Given the description of an element on the screen output the (x, y) to click on. 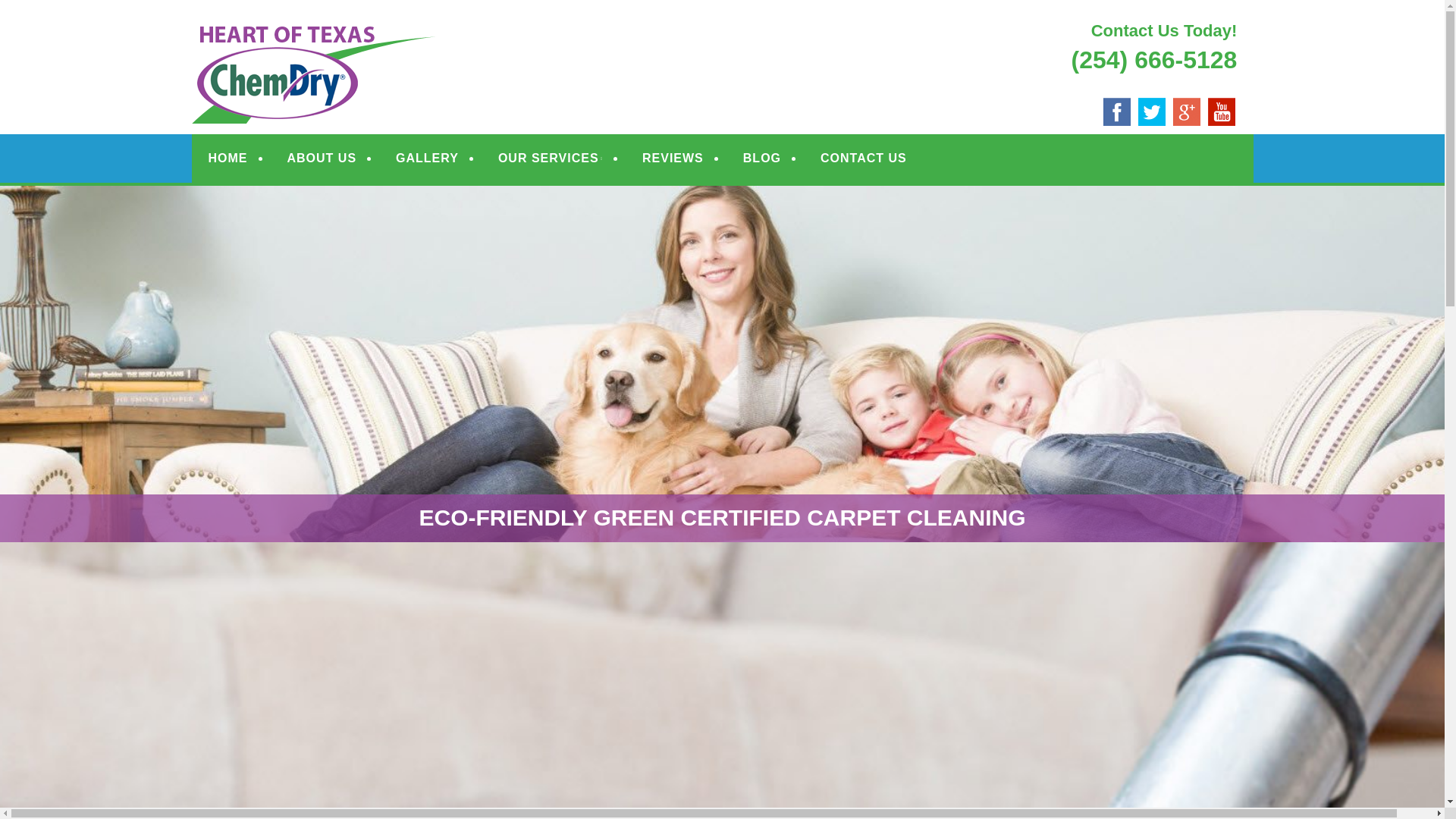
HOME (227, 157)
REVIEWS (672, 157)
HEART OF TEXAS CHEMDRY (398, 32)
OUR SERVICES (550, 157)
BLOG (762, 157)
CONTACT US (863, 157)
GALLERY (426, 157)
Heart of Texas ChemDry (398, 32)
ABOUT US (321, 157)
